Given the description of an element on the screen output the (x, y) to click on. 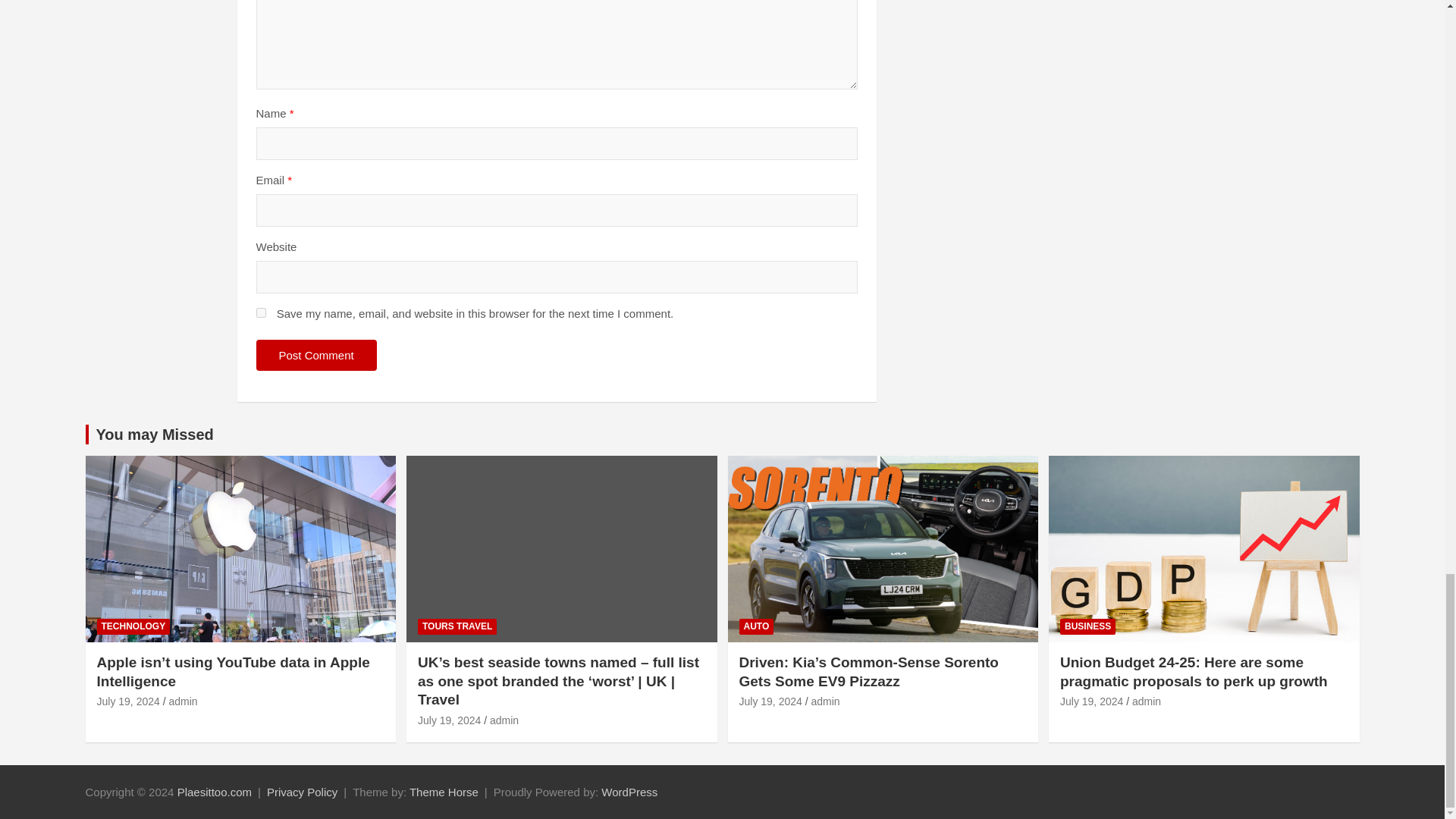
Post Comment (316, 355)
Theme Horse (444, 791)
WordPress (629, 791)
yes (261, 312)
Post Comment (316, 355)
Plaesittoo.com (214, 791)
